Given the description of an element on the screen output the (x, y) to click on. 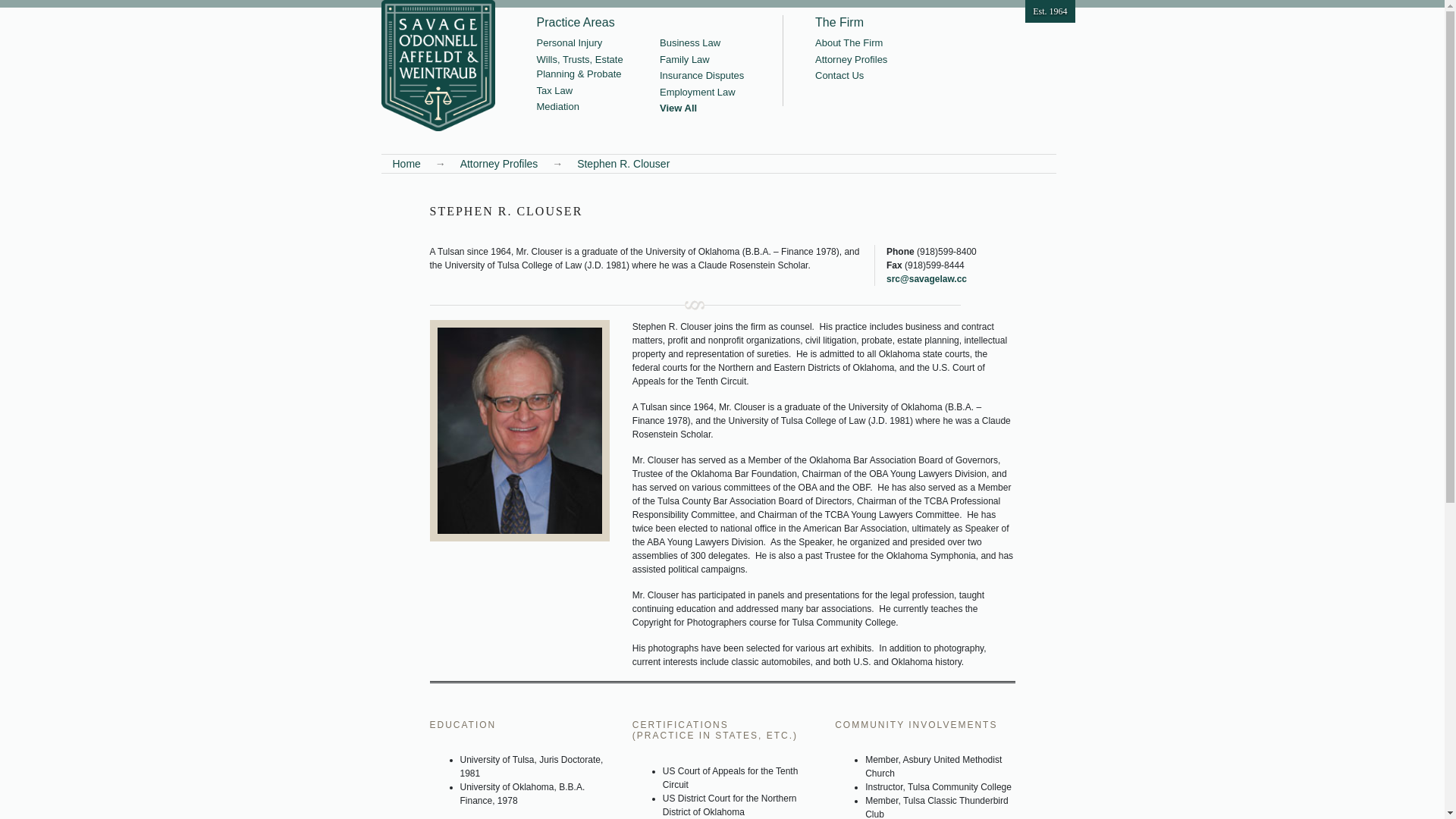
Personal Injury Element type: text (581, 42)
About The Firm Element type: text (851, 42)
Mediation Element type: text (581, 106)
Business Law Element type: text (701, 42)
src@savagelaw.cc Element type: text (926, 278)
Employment Law Element type: text (701, 92)
Stephen R. Clouser Element type: text (623, 163)
Tax Law Element type: text (581, 90)
Attorney Profiles Element type: text (851, 59)
View All Element type: text (701, 108)
Insurance Disputes Element type: text (701, 75)
Wills, Trusts, Estate Planning & Probate Element type: text (581, 66)
Home Element type: text (406, 163)
Family Law Element type: text (701, 59)
Contact Us Element type: text (851, 75)
Attorney Profiles Element type: text (499, 163)
